Given the description of an element on the screen output the (x, y) to click on. 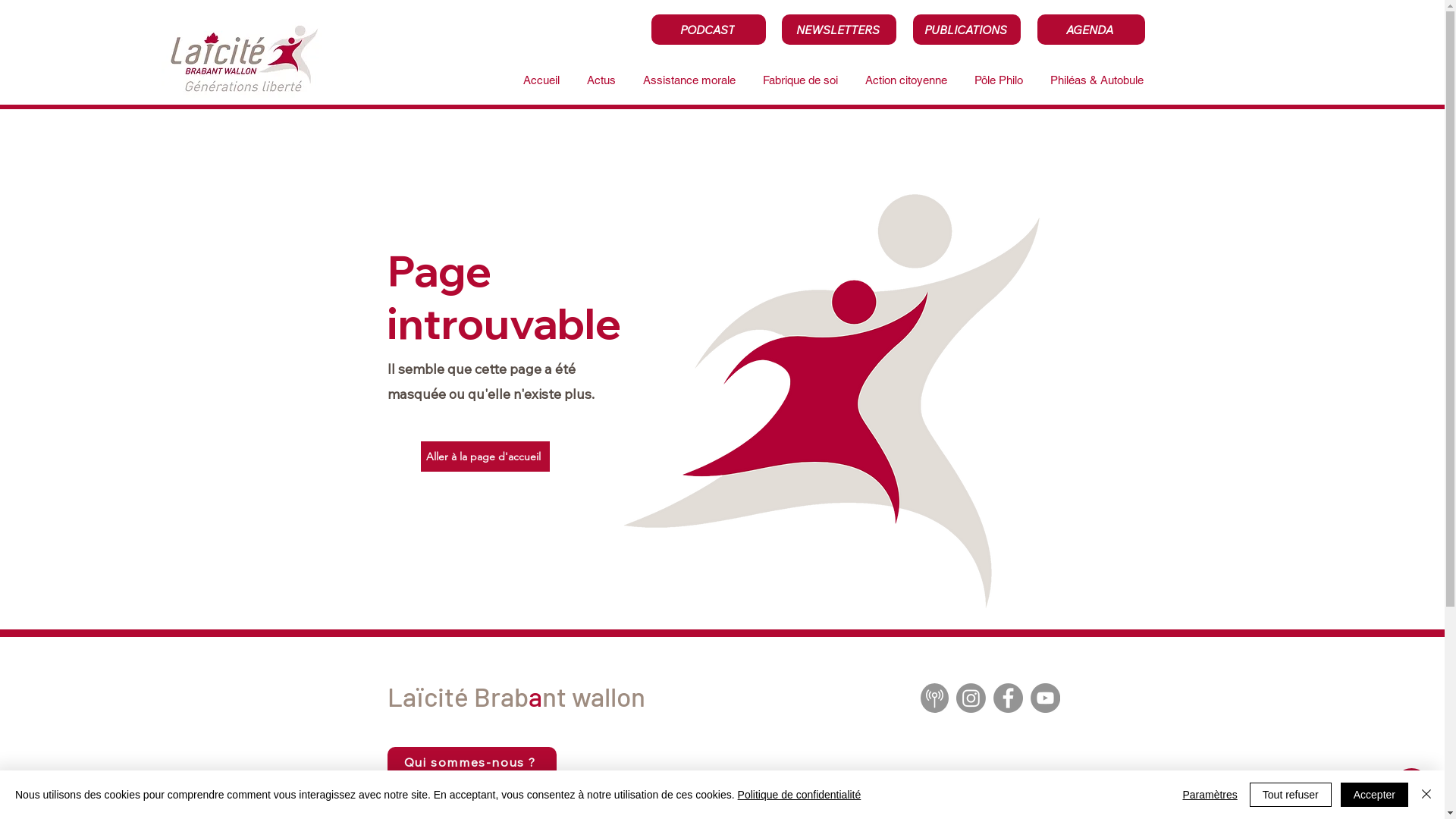
PODCAST Element type: text (708, 29)
AGENDA Element type: text (1091, 29)
PUBLICATIONS Element type: text (966, 29)
Fabrique de soi Element type: text (797, 80)
Qui sommes-nous ? Element type: text (470, 761)
NEWSLETTERS Element type: text (838, 29)
Tout refuser Element type: text (1290, 794)
Accueil Element type: text (539, 80)
Assistance morale Element type: text (686, 80)
Accepter Element type: text (1374, 794)
Actus Element type: text (599, 80)
Action citoyenne Element type: text (903, 80)
